Given the description of an element on the screen output the (x, y) to click on. 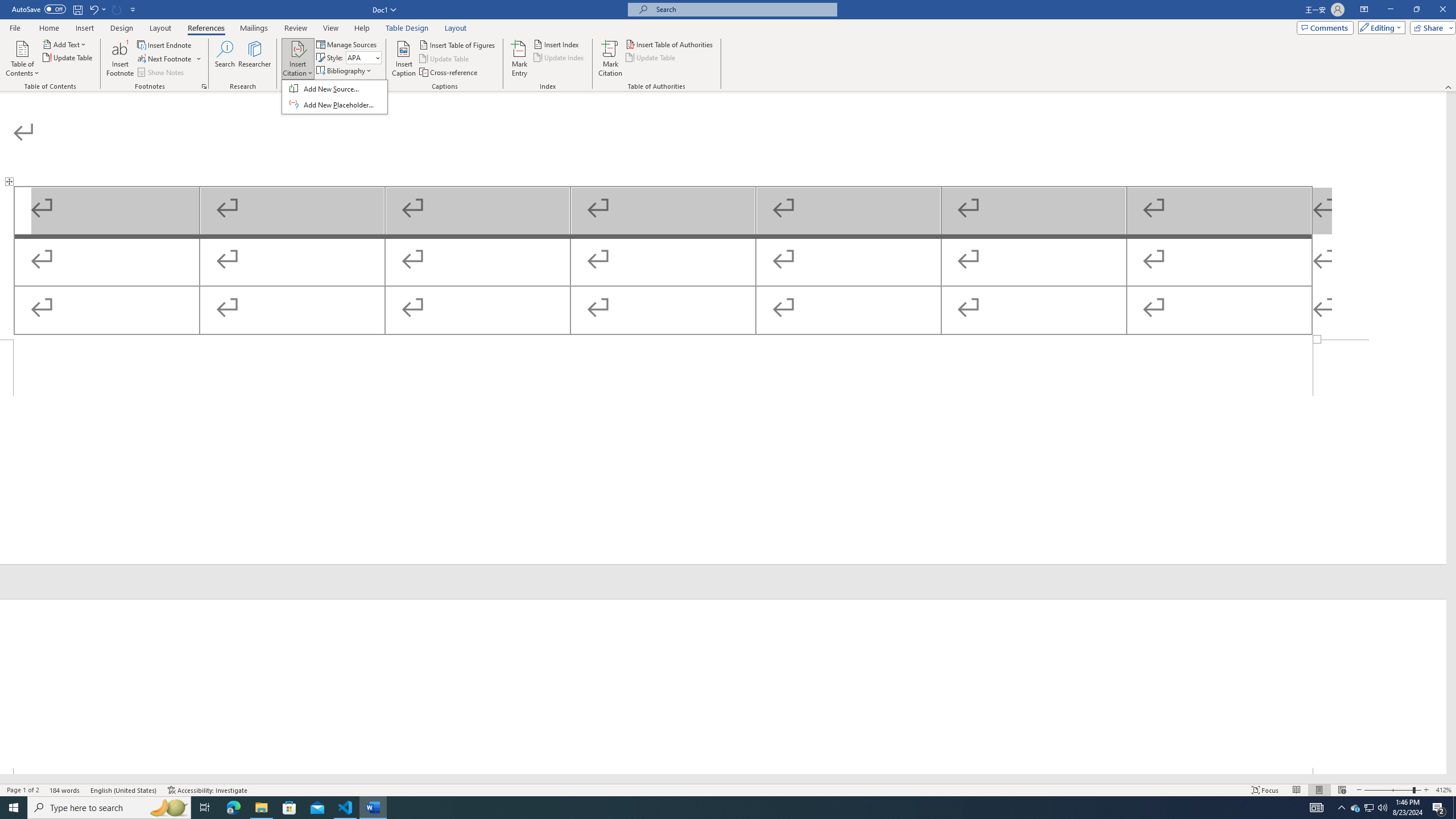
Insert Table of Authorities... (670, 44)
File Explorer - 1 running window (261, 807)
Q2790: 100% (1382, 807)
